Given the description of an element on the screen output the (x, y) to click on. 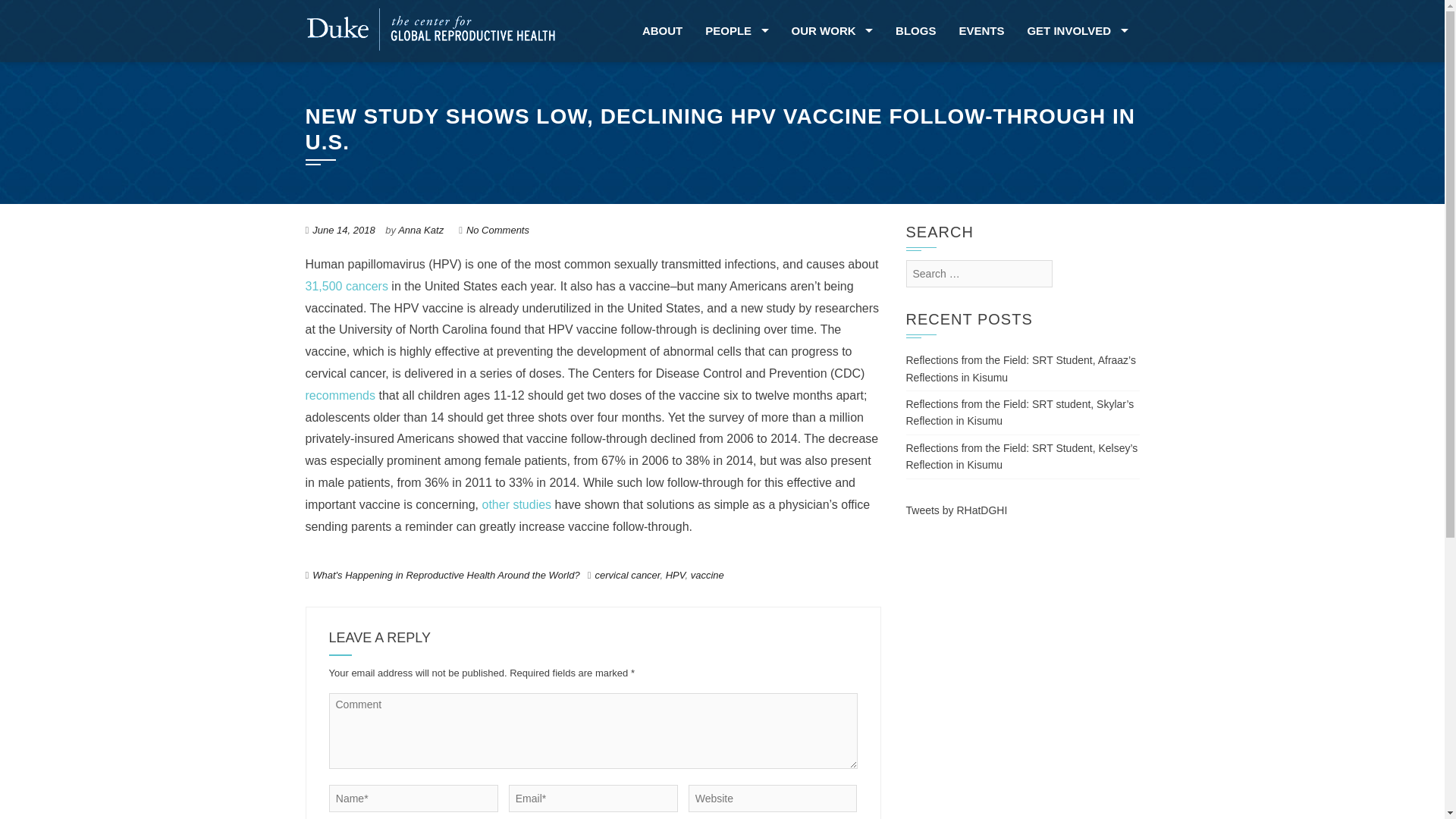
No Comments (497, 229)
BLOGS (915, 31)
Anna Katz (420, 229)
recommends (339, 395)
What's Happening in Reproductive Health Around the World? (446, 574)
GET INVOLVED (1076, 31)
HPV (675, 574)
other studies (516, 504)
31,500 cancers (347, 286)
ABOUT (662, 31)
vaccine (706, 574)
PEOPLE (736, 31)
Tweets by RHatDGHI (956, 510)
EVENTS (980, 31)
June 14, 2018 (343, 229)
